Given the description of an element on the screen output the (x, y) to click on. 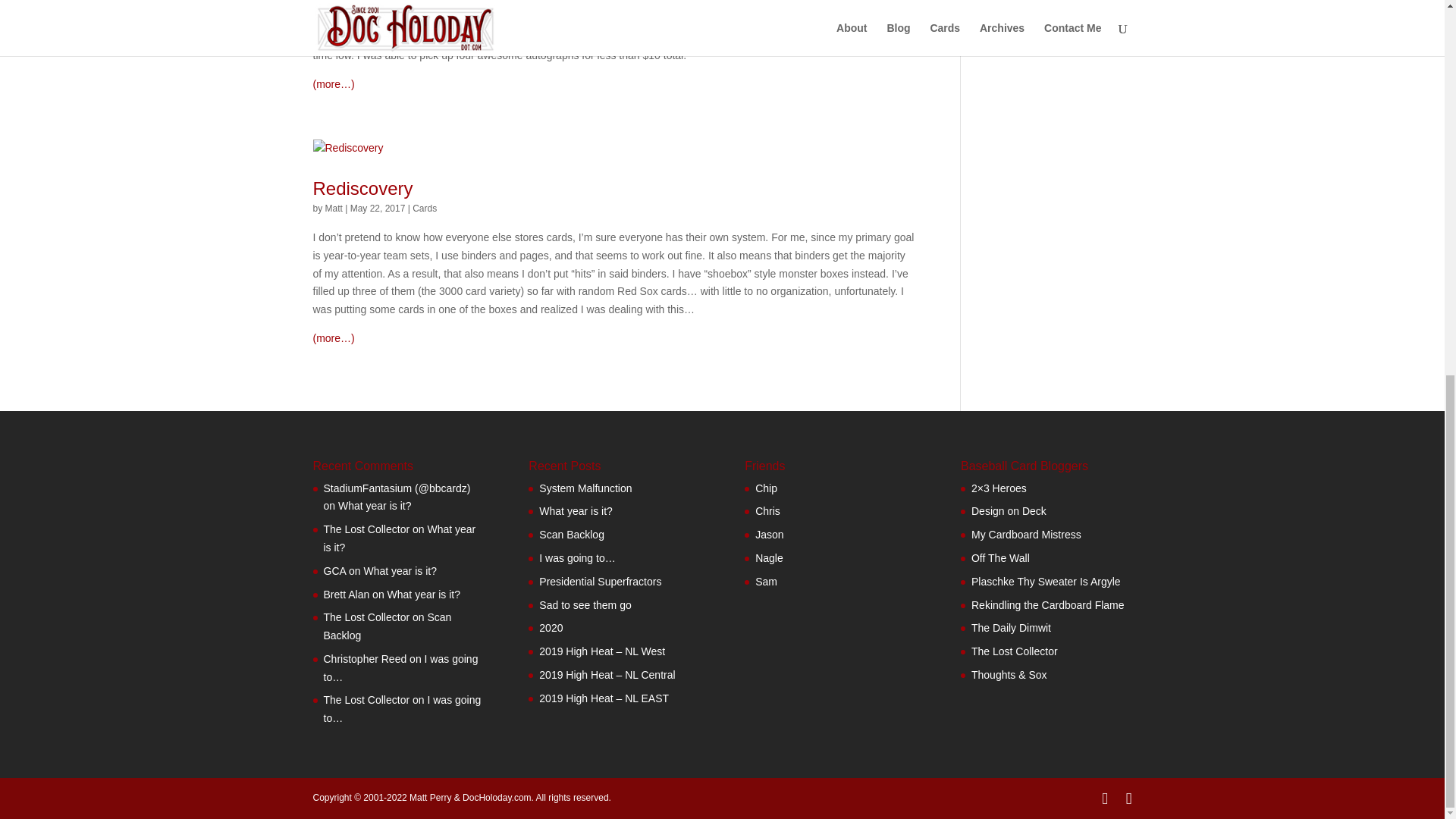
The Daily Dimwit (766, 581)
Rediscovery (362, 188)
The Lost Collector (1027, 5)
Cards (424, 208)
What year is it? (399, 538)
Matt (333, 208)
What year is it? (373, 505)
Posts by Matt (333, 208)
